Given the description of an element on the screen output the (x, y) to click on. 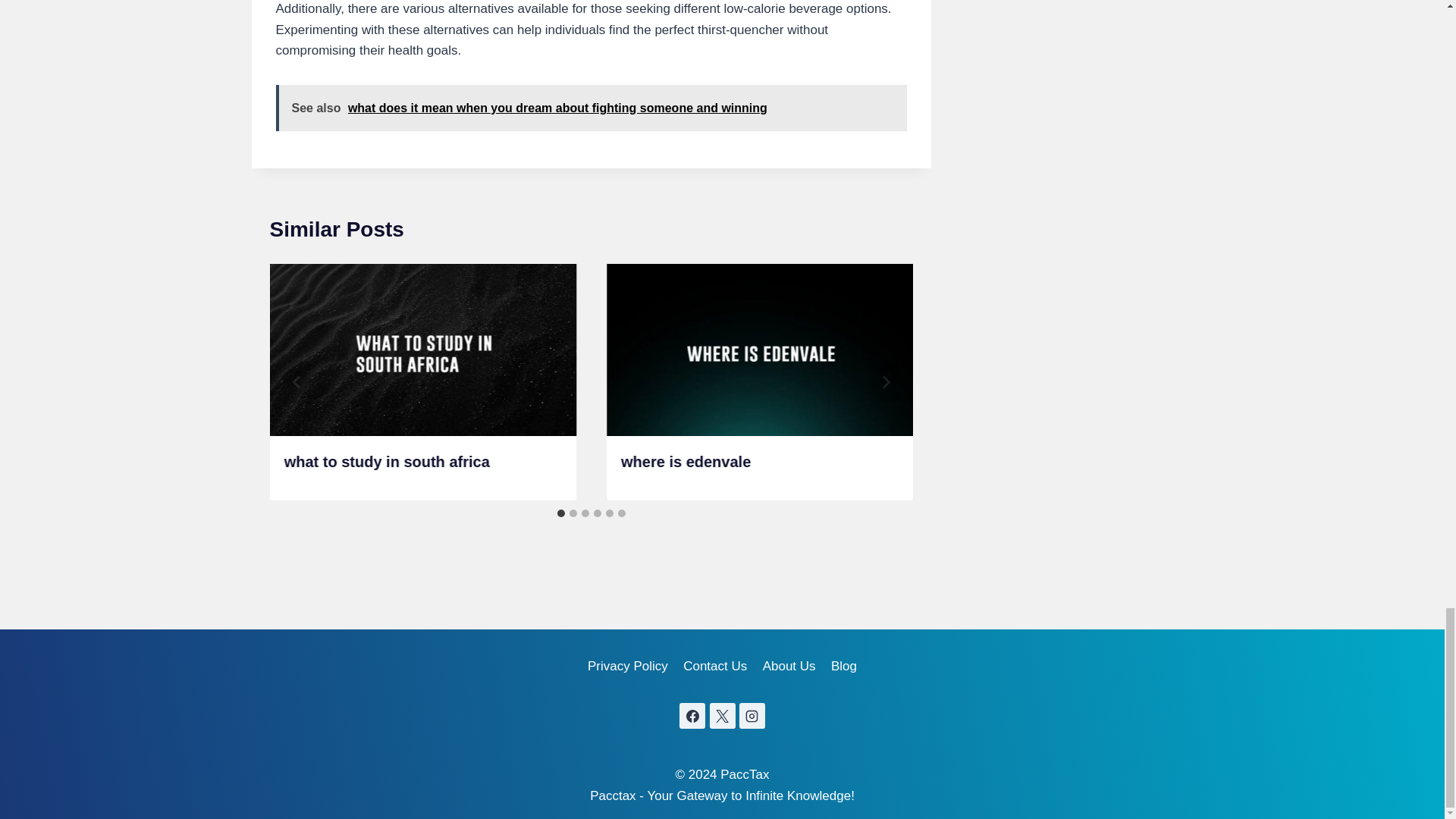
where is edenvale (686, 461)
what to study in south africa (386, 461)
